Given the description of an element on the screen output the (x, y) to click on. 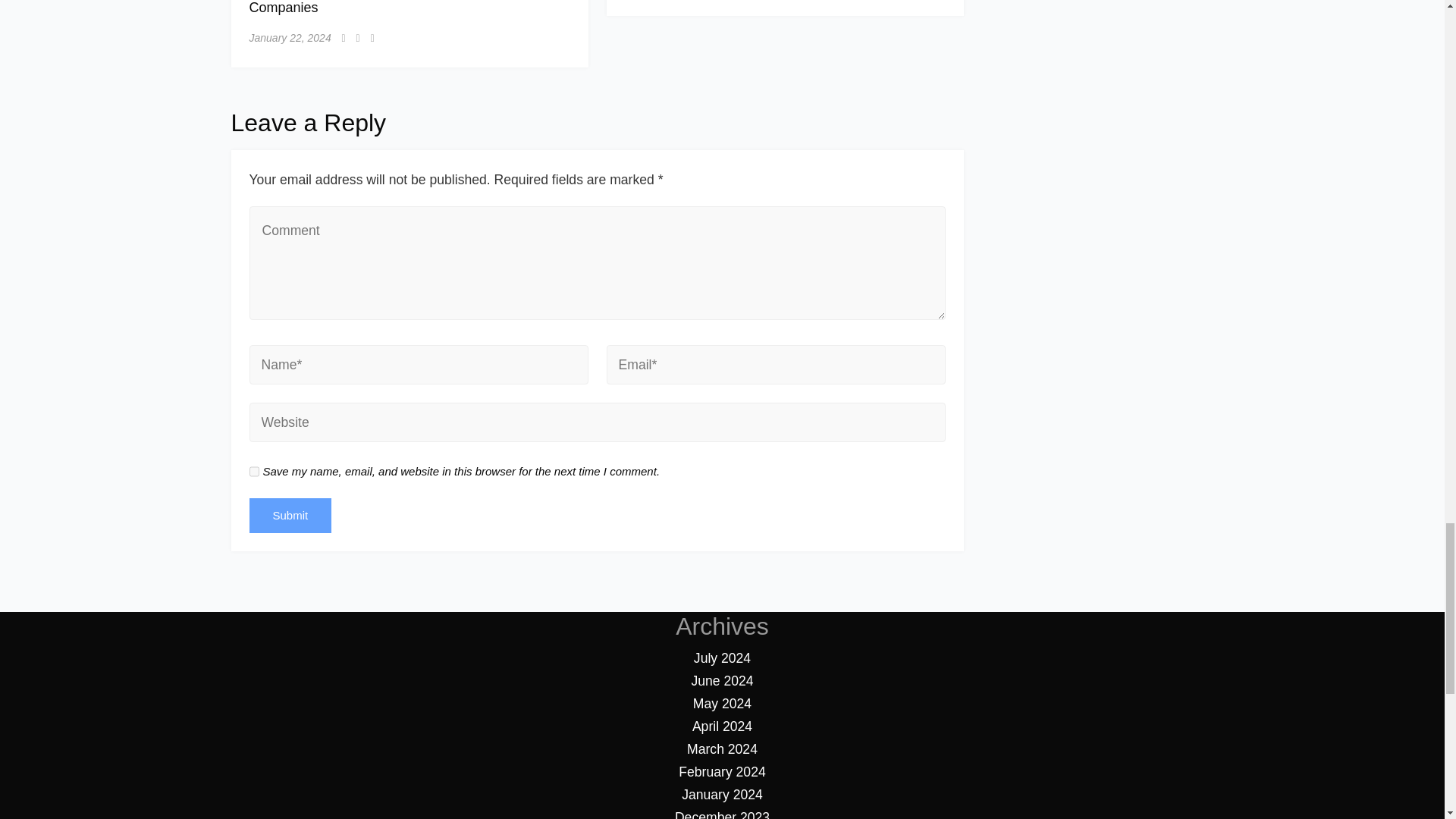
Common Questions Asked to Cesspool Pumping Companies (395, 7)
Submit (289, 515)
March 2024 (722, 749)
April 2024 (722, 726)
January 22, 2024 (289, 37)
July 2024 (722, 657)
June 2024 (721, 680)
May 2024 (722, 703)
Submit (289, 515)
